Given the description of an element on the screen output the (x, y) to click on. 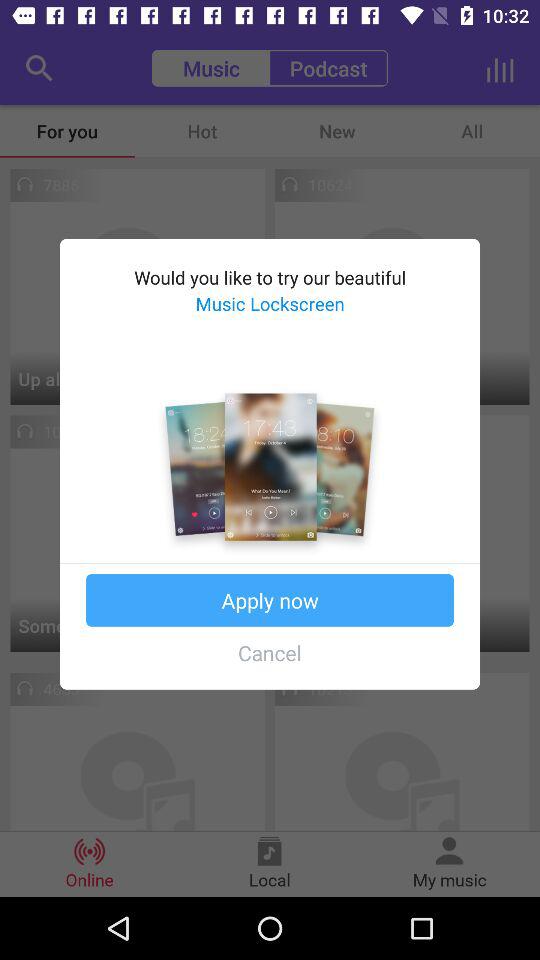
launch icon below the apply now (269, 652)
